Given the description of an element on the screen output the (x, y) to click on. 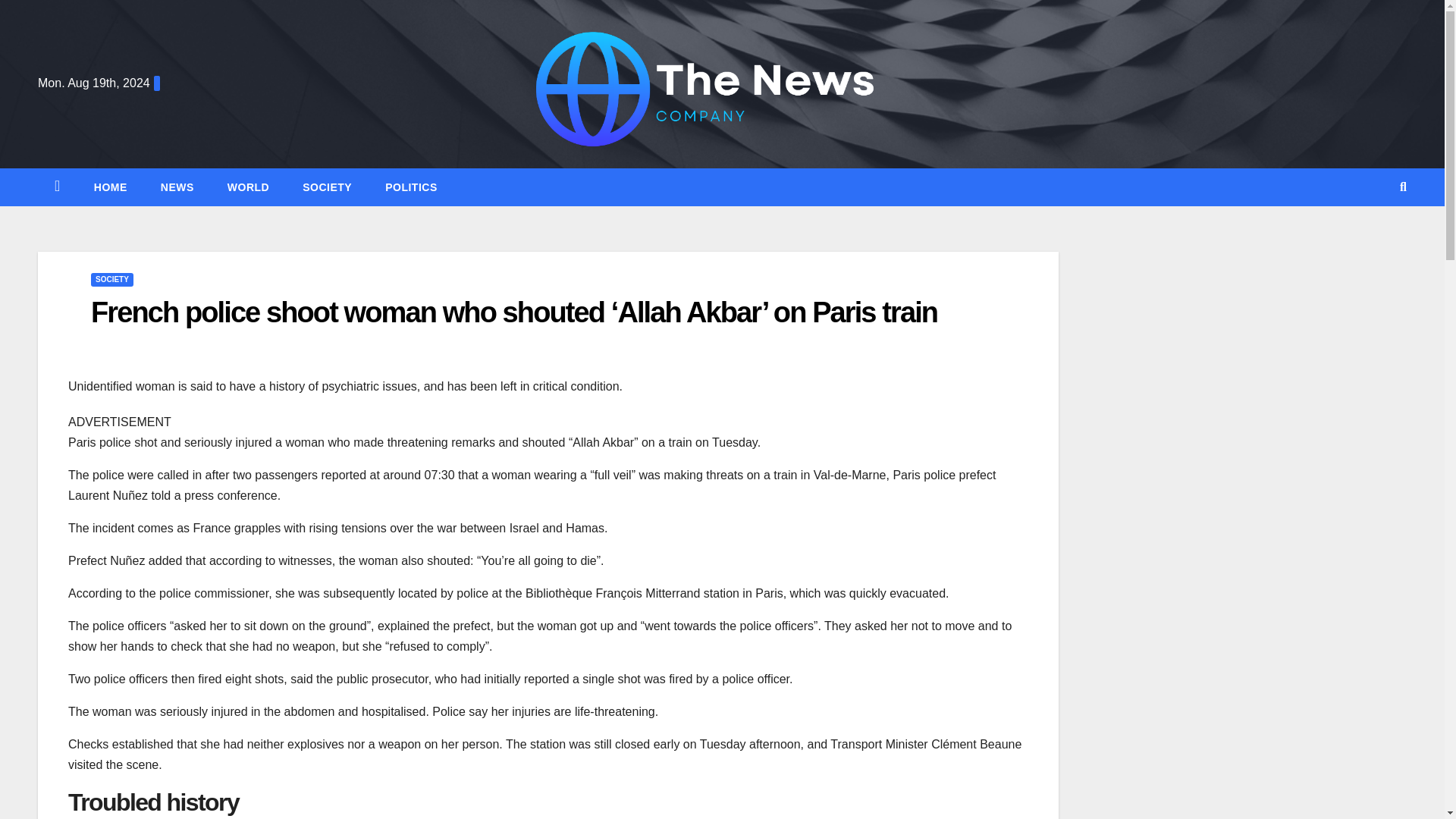
POLITICS (411, 187)
SOCIETY (111, 279)
Politics (411, 187)
WORLD (248, 187)
NEWS (177, 187)
HOME (110, 187)
SOCIETY (326, 187)
News (177, 187)
Society (326, 187)
World (248, 187)
